Given the description of an element on the screen output the (x, y) to click on. 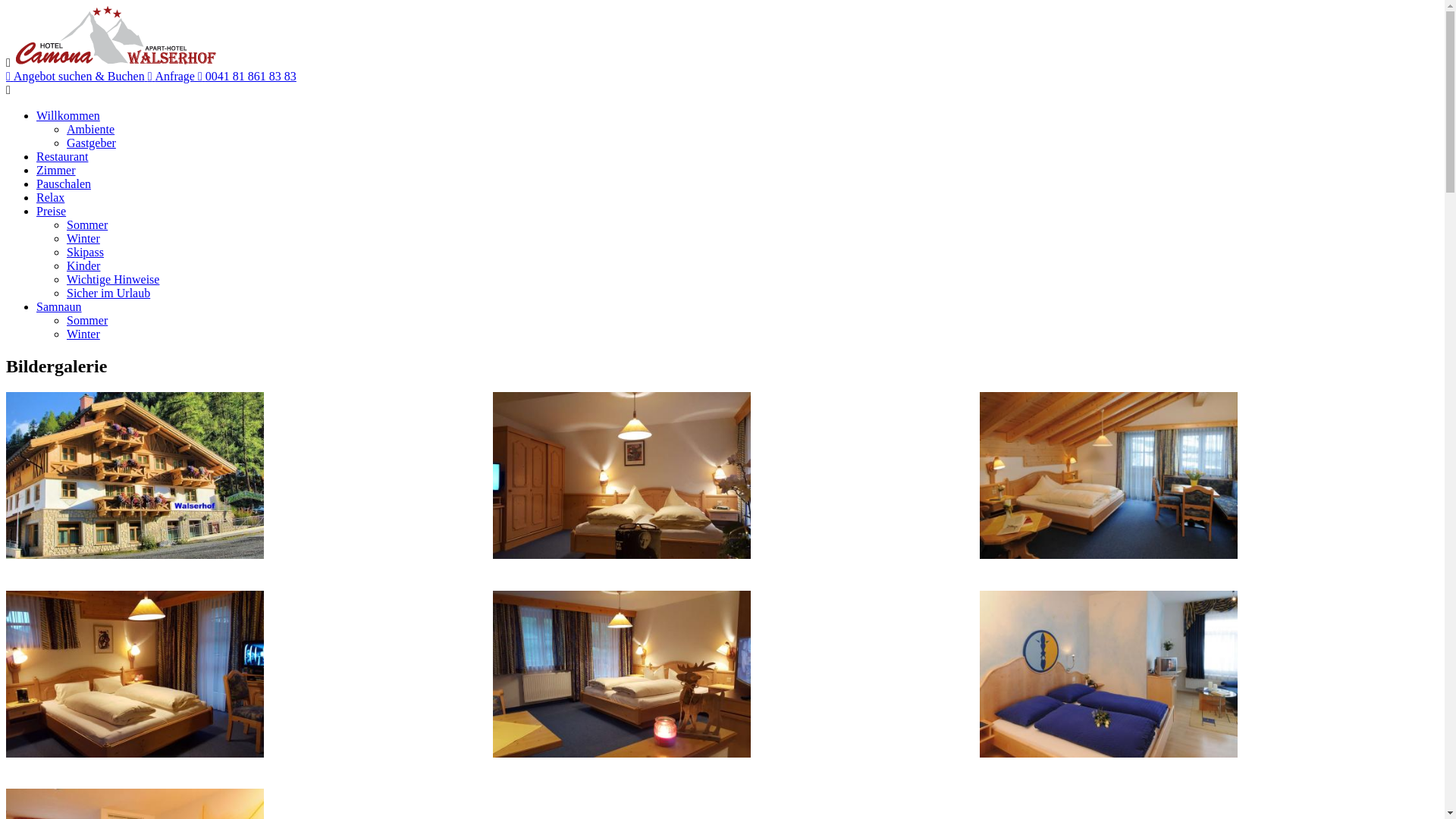
Restaurant Element type: text (61, 156)
Ambiente Element type: text (90, 128)
Skipass Element type: text (84, 251)
Sommer Element type: text (86, 319)
Samnaun Element type: text (58, 306)
Relax Element type: text (50, 197)
Wichtige Hinweise Element type: text (112, 279)
Sicher im Urlaub Element type: text (108, 292)
Kinder Element type: text (83, 265)
Zimmer Element type: text (55, 169)
Gastgeber Element type: text (91, 142)
Winter Element type: text (83, 238)
Winter Element type: text (83, 333)
Willkommen Element type: text (68, 115)
Pauschalen Element type: text (63, 183)
Sommer Element type: text (86, 224)
Preise Element type: text (50, 210)
